Given the description of an element on the screen output the (x, y) to click on. 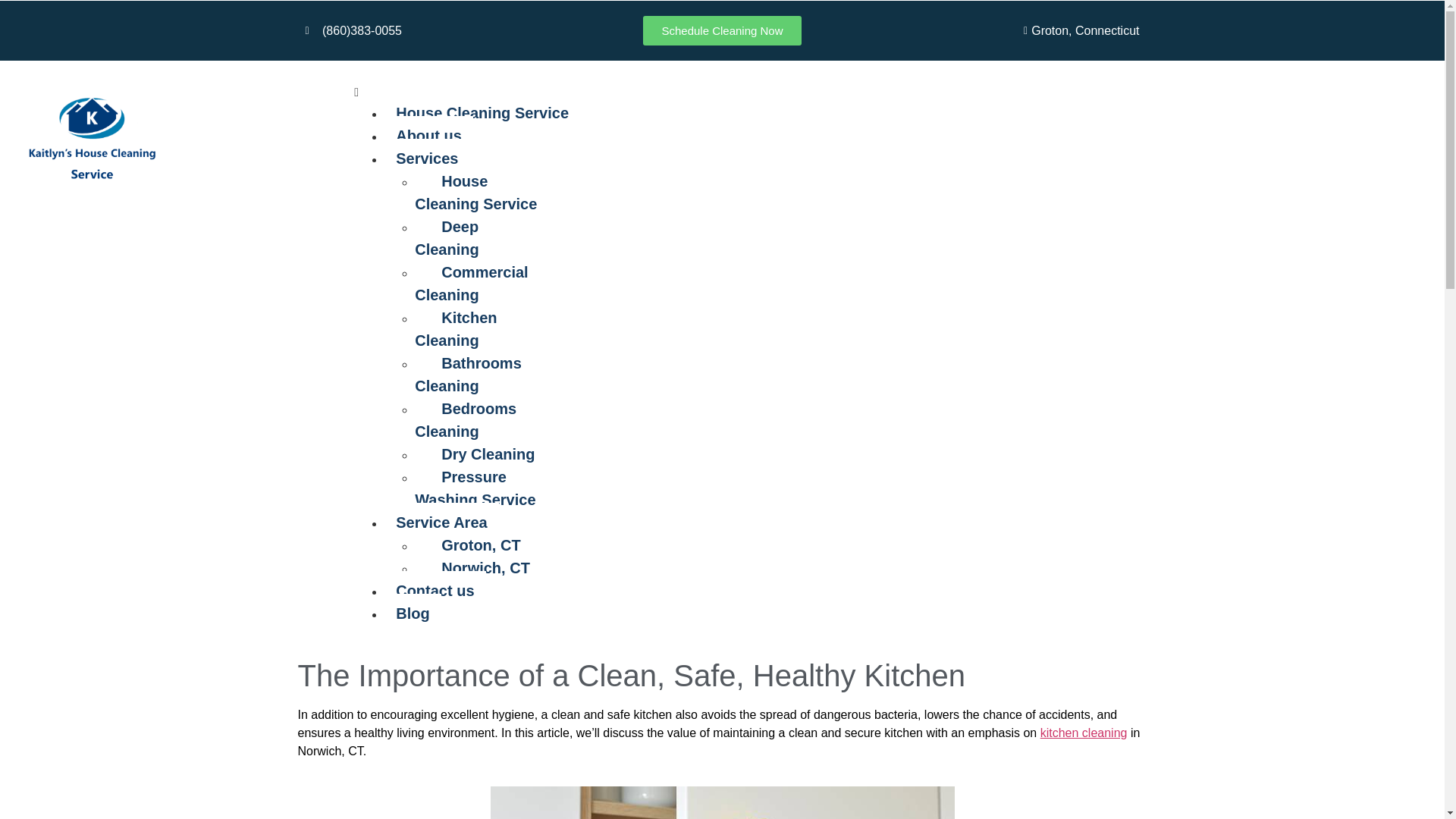
Dry Cleaning (480, 454)
Kitchen Cleaning (455, 329)
House Cleaning Service (481, 112)
Norwich, CT (477, 567)
Schedule Cleaning Now (721, 30)
Service Area (440, 522)
Commercial Cleaning (471, 283)
Groton, CT (472, 545)
Blog (412, 613)
kitchen cleaning (1083, 732)
Contact us (434, 590)
Deep Cleaning (451, 238)
Services (426, 158)
Pressure Washing Service (480, 488)
House Cleaning Service (481, 192)
